Given the description of an element on the screen output the (x, y) to click on. 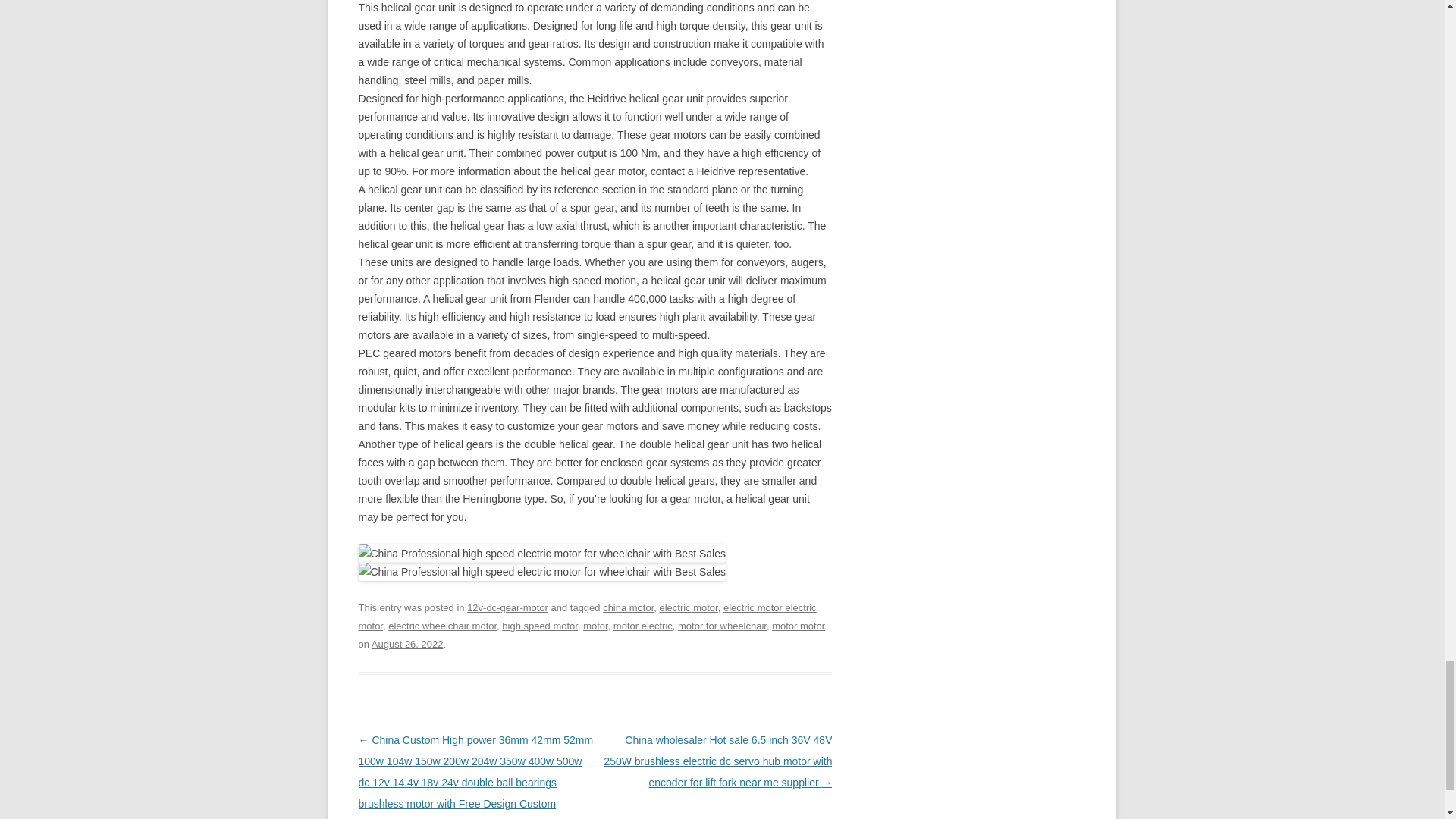
motor for wheelchair (722, 625)
motor electric (642, 625)
motor motor (798, 625)
electric motor (688, 607)
August 26, 2022 (407, 644)
electric motor electric motor (586, 616)
12:37 pm (407, 644)
electric wheelchair motor (442, 625)
motor (595, 625)
high speed motor (540, 625)
